Given the description of an element on the screen output the (x, y) to click on. 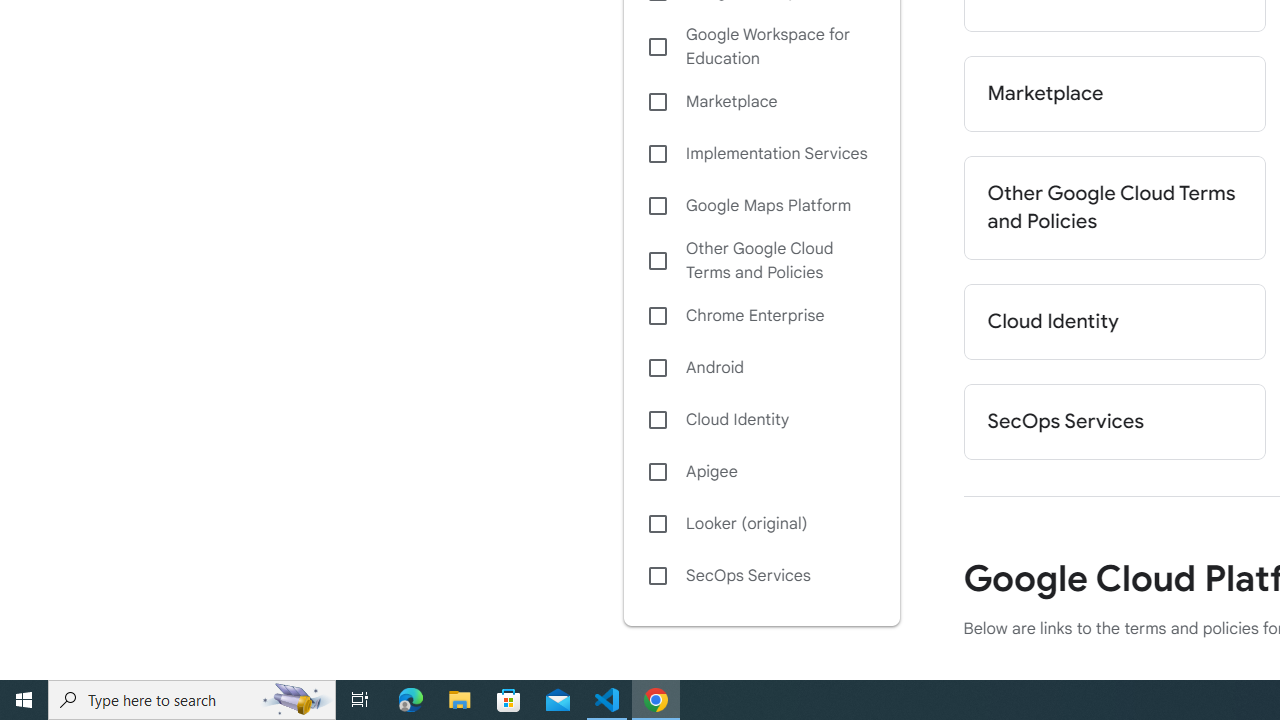
Marketplace (1114, 93)
Cloud Identity (1114, 321)
Other Google Cloud Terms and Policies (1114, 207)
Cloud Identity (761, 419)
Looker (original) (761, 524)
SecOps Services (1114, 421)
Google Workspace for Education (761, 47)
Implementation Services (761, 154)
Marketplace (761, 102)
Chrome Enterprise (761, 316)
Other Google Cloud Terms and Policies (761, 260)
Google Maps Platform (761, 205)
SecOps Services (761, 575)
Apigee (761, 471)
